Given the description of an element on the screen output the (x, y) to click on. 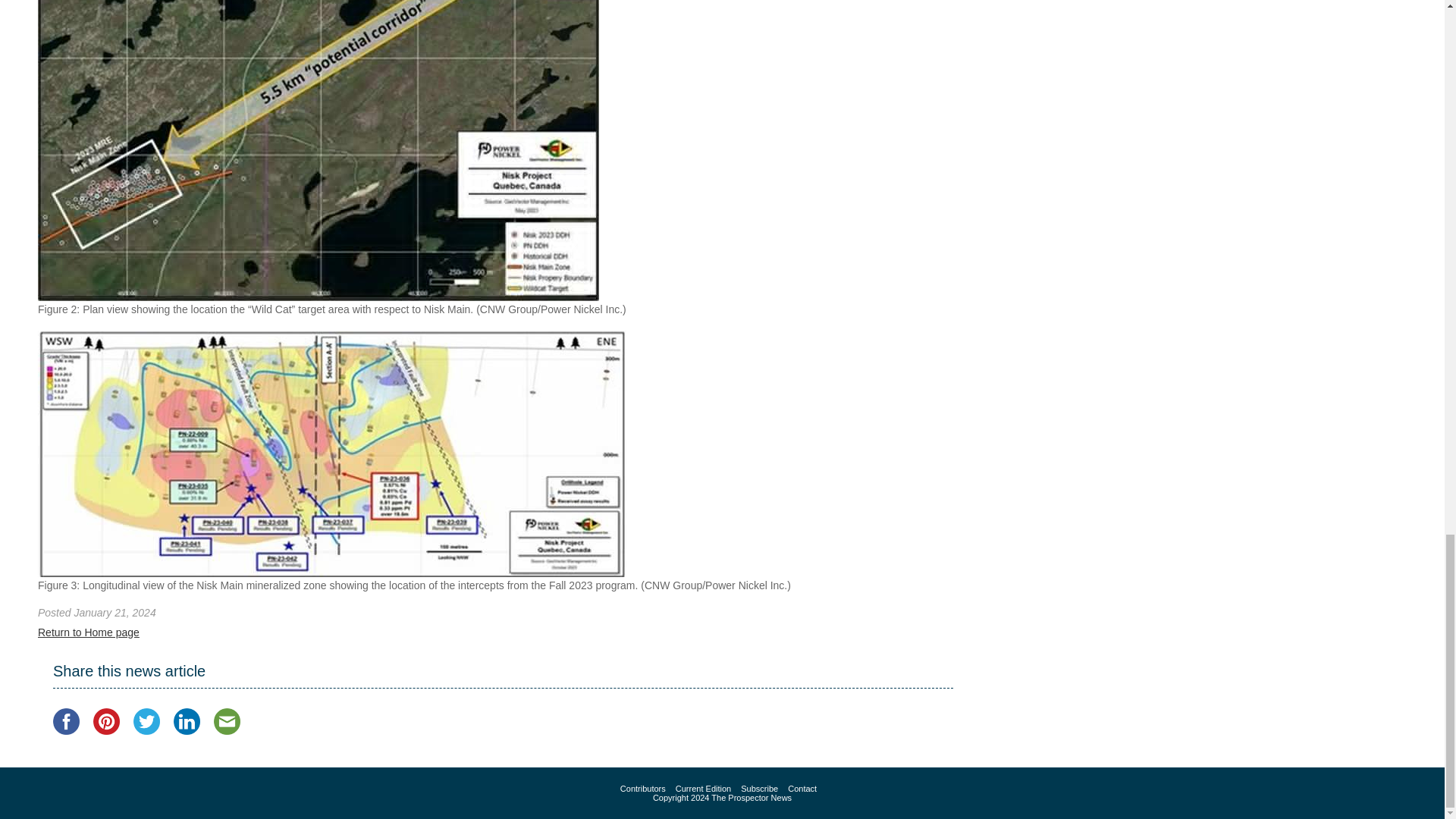
facebook (66, 721)
Contributors (642, 788)
pinterest (106, 721)
Current Edition (702, 788)
twitter (146, 721)
Return to Home page (88, 632)
